Given the description of an element on the screen output the (x, y) to click on. 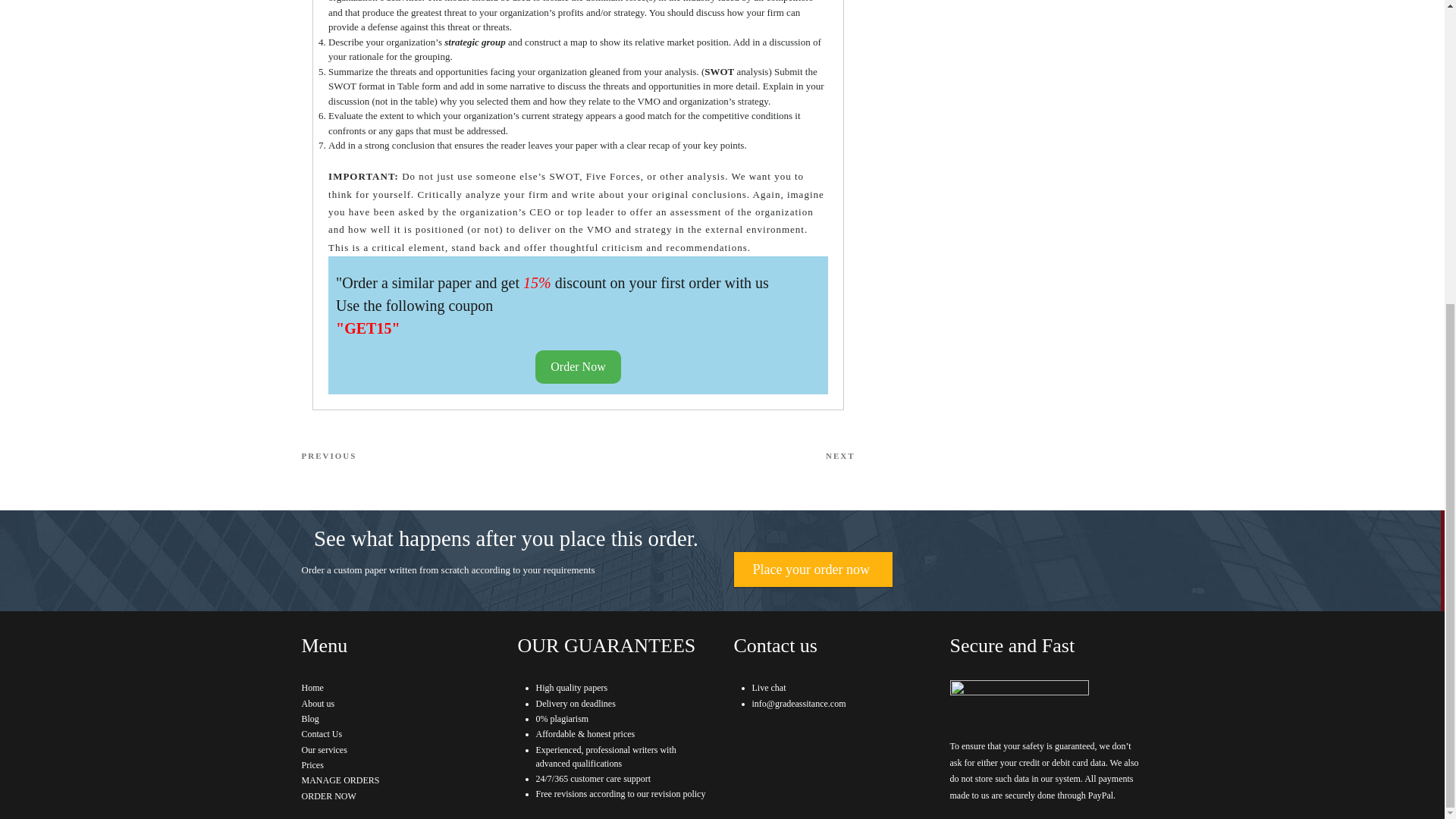
Our services (716, 455)
Prices (324, 749)
Blog (312, 765)
Contact Us (309, 718)
Order Now (321, 733)
Place your order now (577, 367)
MANAGE ORDERS (439, 455)
About us (812, 569)
ORDER NOW (340, 779)
Home (317, 703)
